Given the description of an element on the screen output the (x, y) to click on. 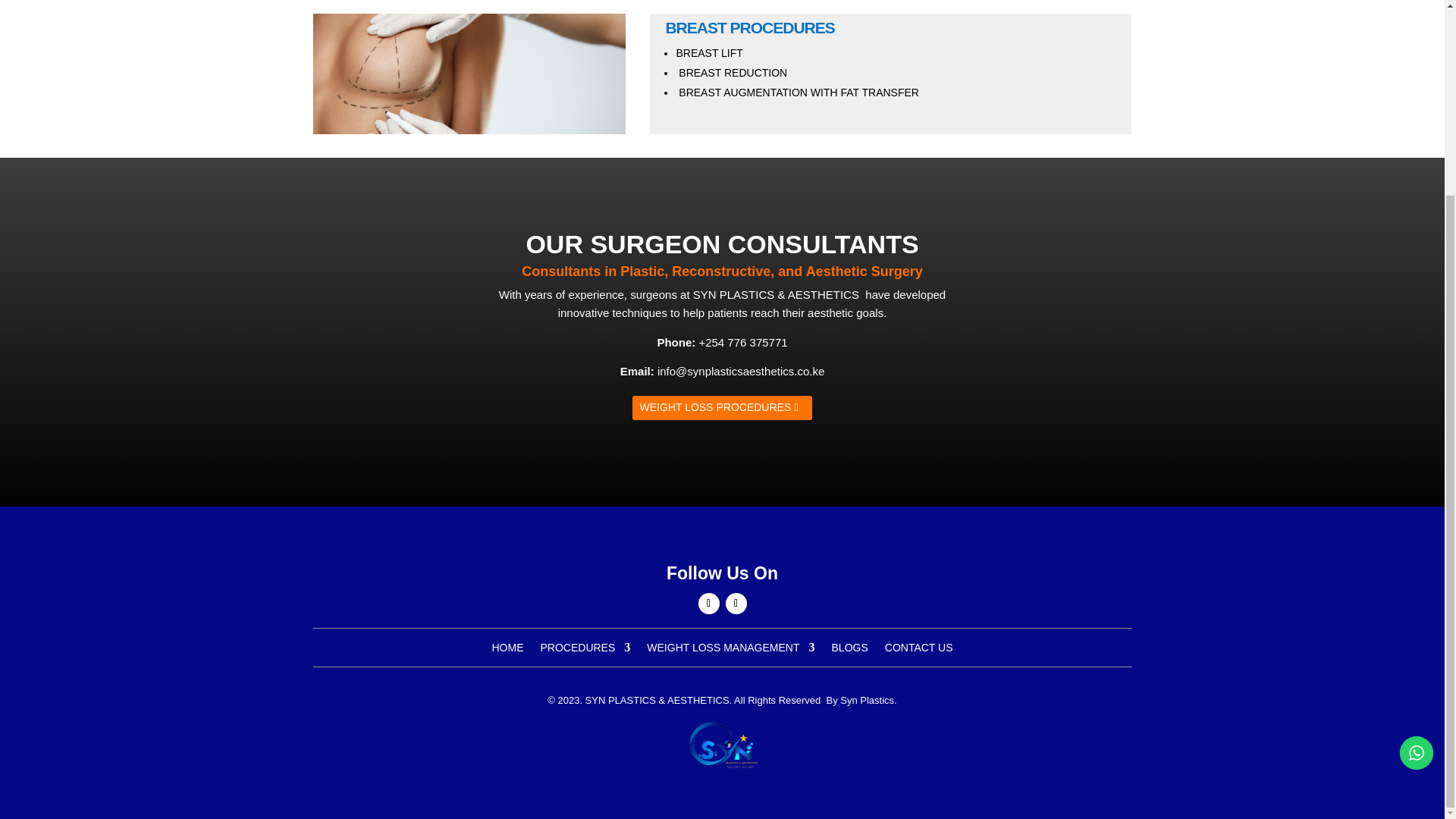
Follow on Facebook (708, 603)
Follow on Instagram (735, 603)
b (721, 745)
